Given the description of an element on the screen output the (x, y) to click on. 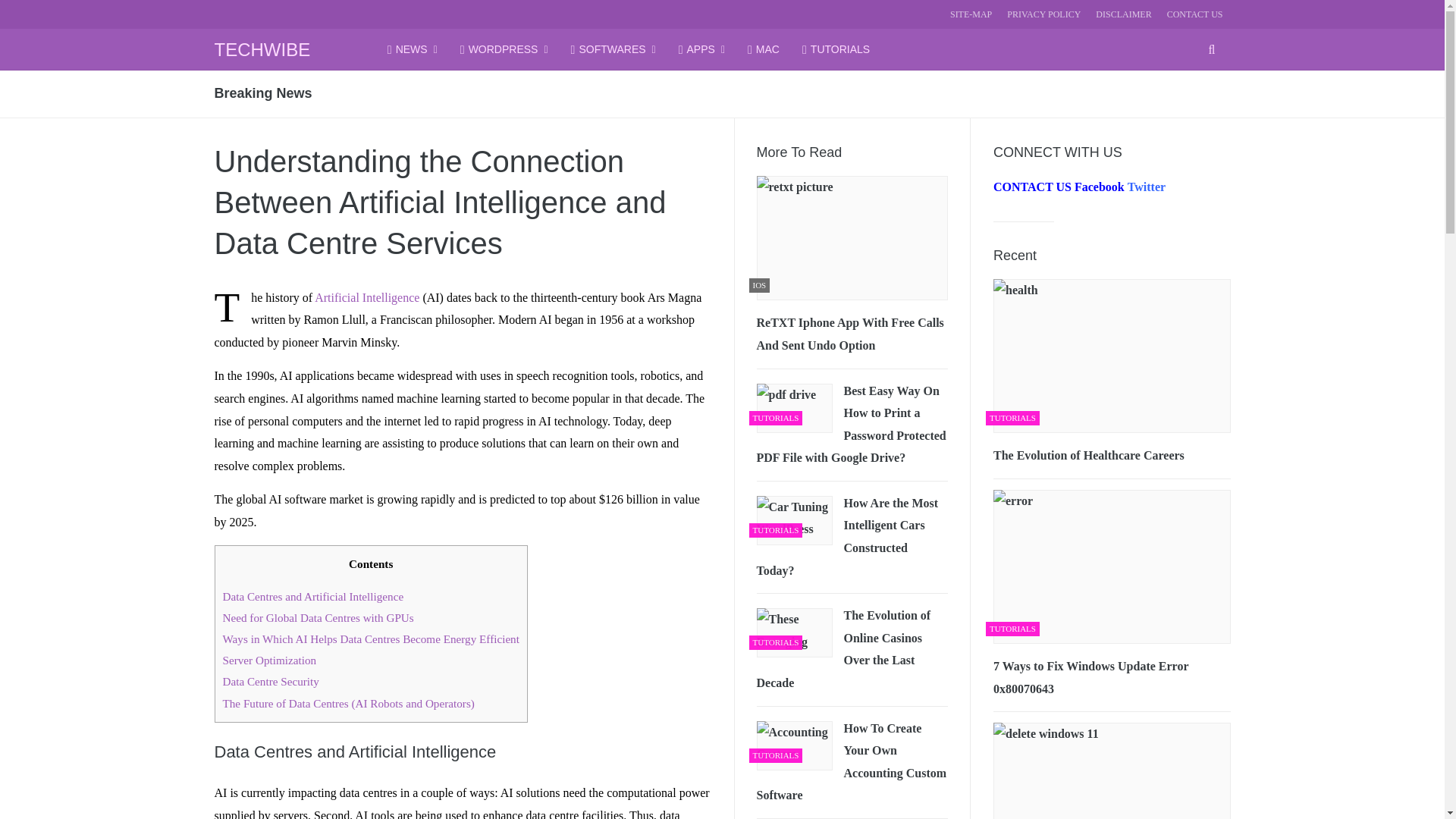
Data Centre Security (270, 680)
NEWS (412, 49)
Artificial Intelligence (366, 297)
TECHWIBE (262, 49)
APPS (701, 49)
Data Centres and Artificial Intelligence (313, 595)
TUTORIALS (835, 49)
DISCLAIMER (1123, 14)
CONTACT US (1195, 14)
SOFTWARES (613, 49)
